Given the description of an element on the screen output the (x, y) to click on. 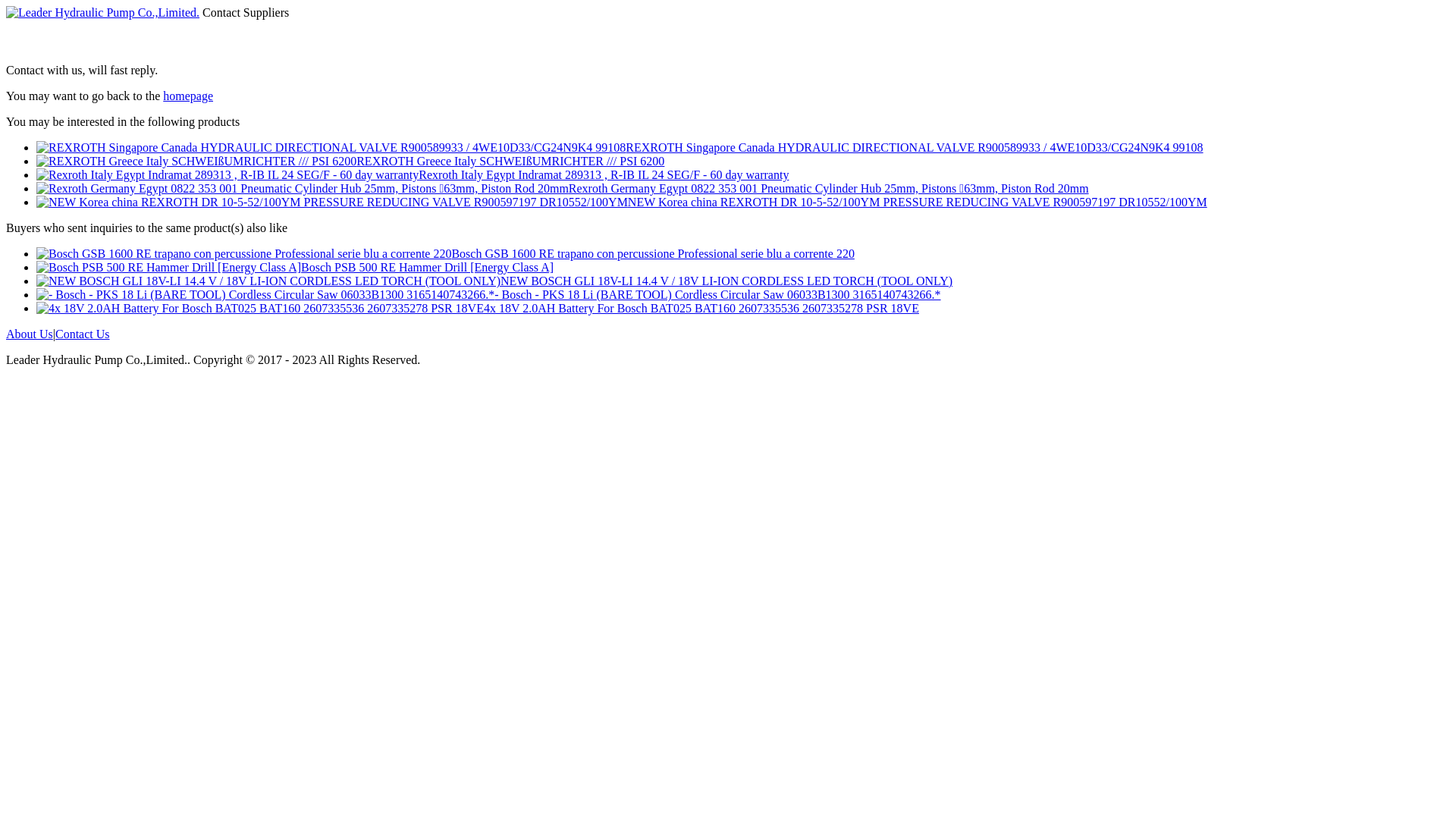
About Us Element type: text (29, 333)
homepage Element type: text (188, 95)
Bosch PSB 500 RE Hammer Drill  [Energy Class A] Element type: hover (168, 266)
Contact Us Element type: text (82, 333)
Leader Hydraulic Pump Co.,Limited. Element type: hover (102, 12)
Bosch PSB 500 RE Hammer Drill [Energy Class A] Element type: text (427, 266)
